Given the description of an element on the screen output the (x, y) to click on. 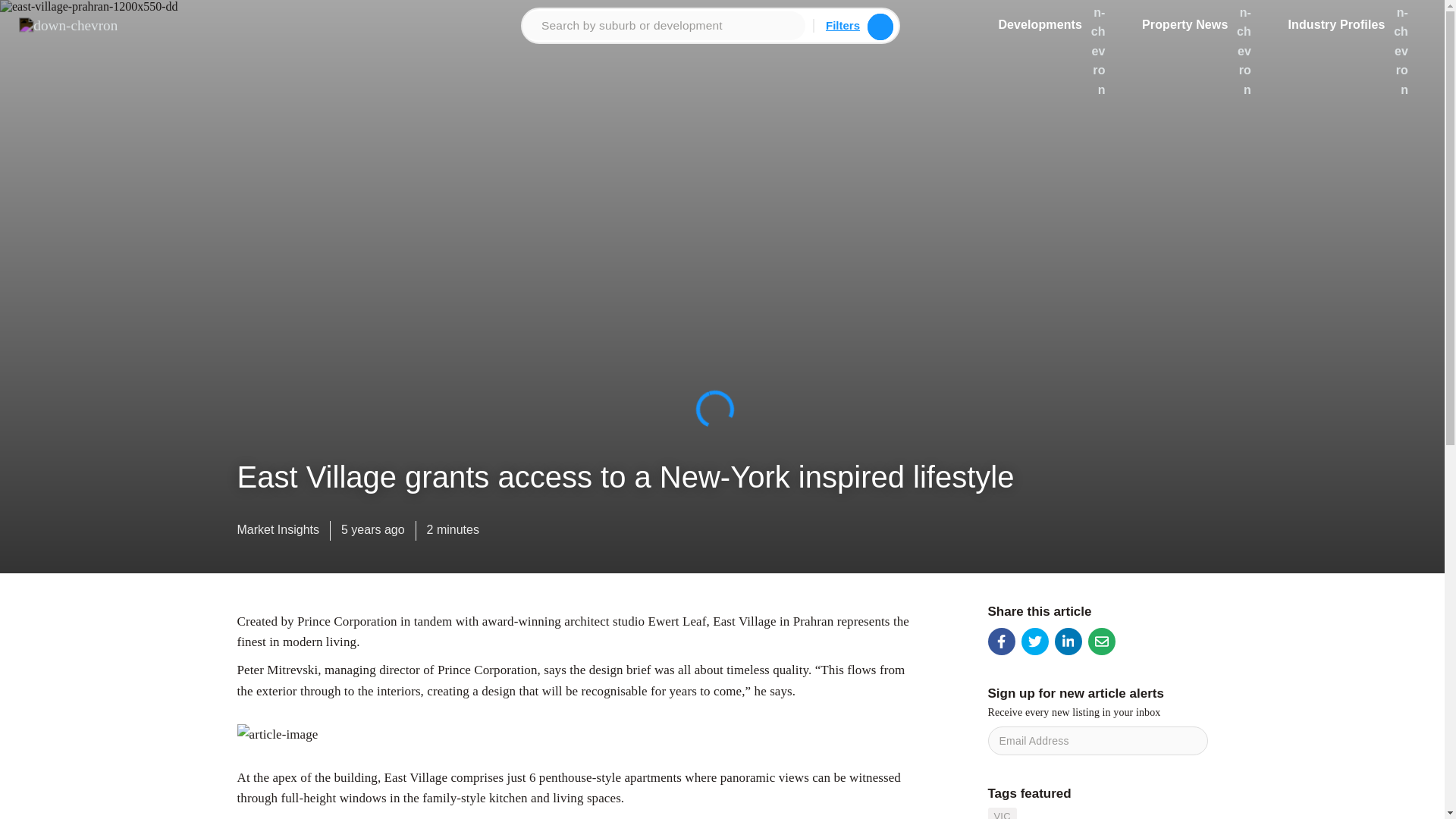
Market Insights (276, 532)
Filters (842, 24)
VIC (1001, 813)
